Given the description of an element on the screen output the (x, y) to click on. 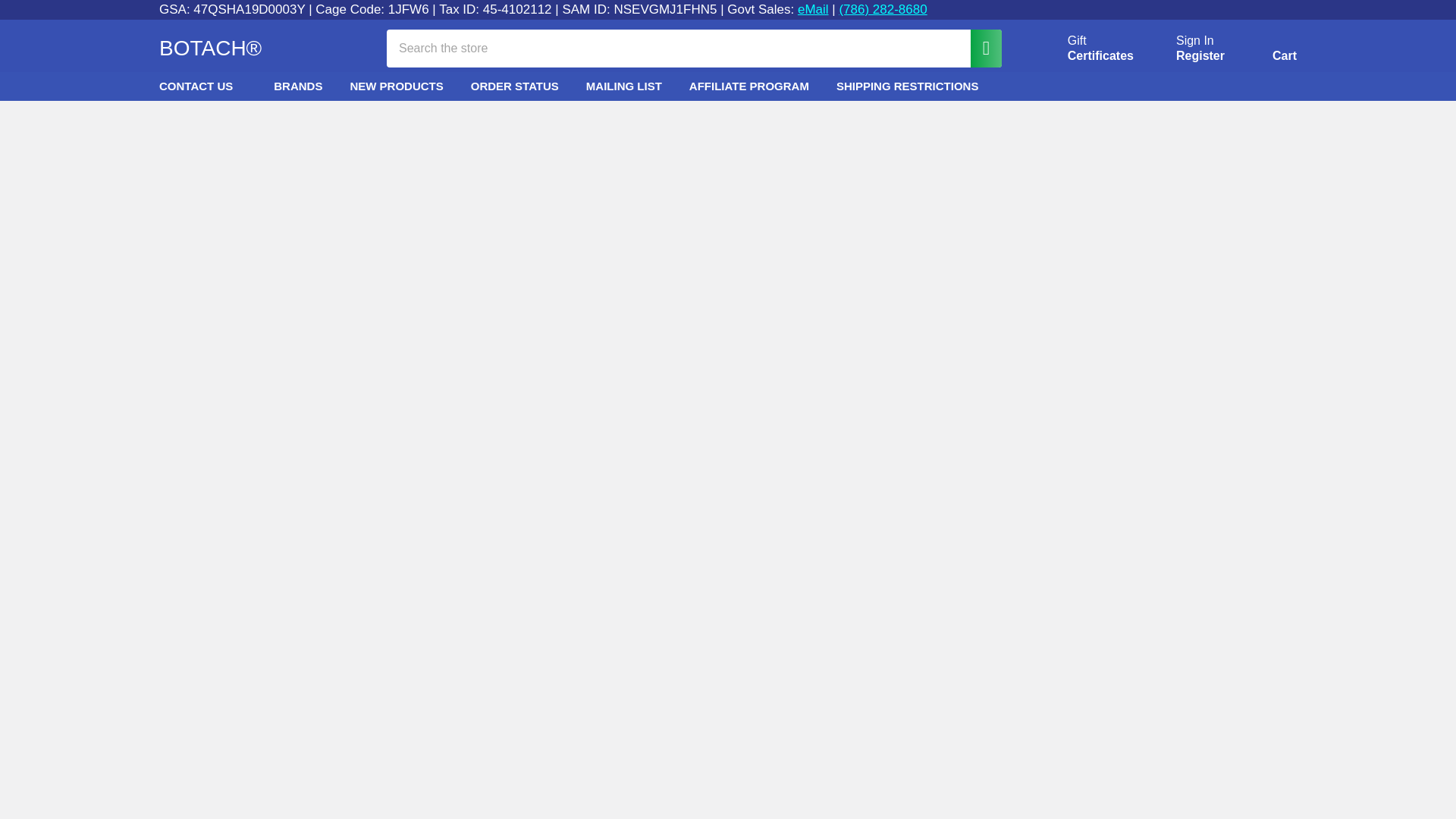
Cart (1266, 51)
Gift Certificates (1083, 48)
eMail (1083, 48)
Register (812, 9)
Cart (1200, 55)
Search (1266, 51)
Sign In (978, 47)
Search (1195, 40)
